Given the description of an element on the screen output the (x, y) to click on. 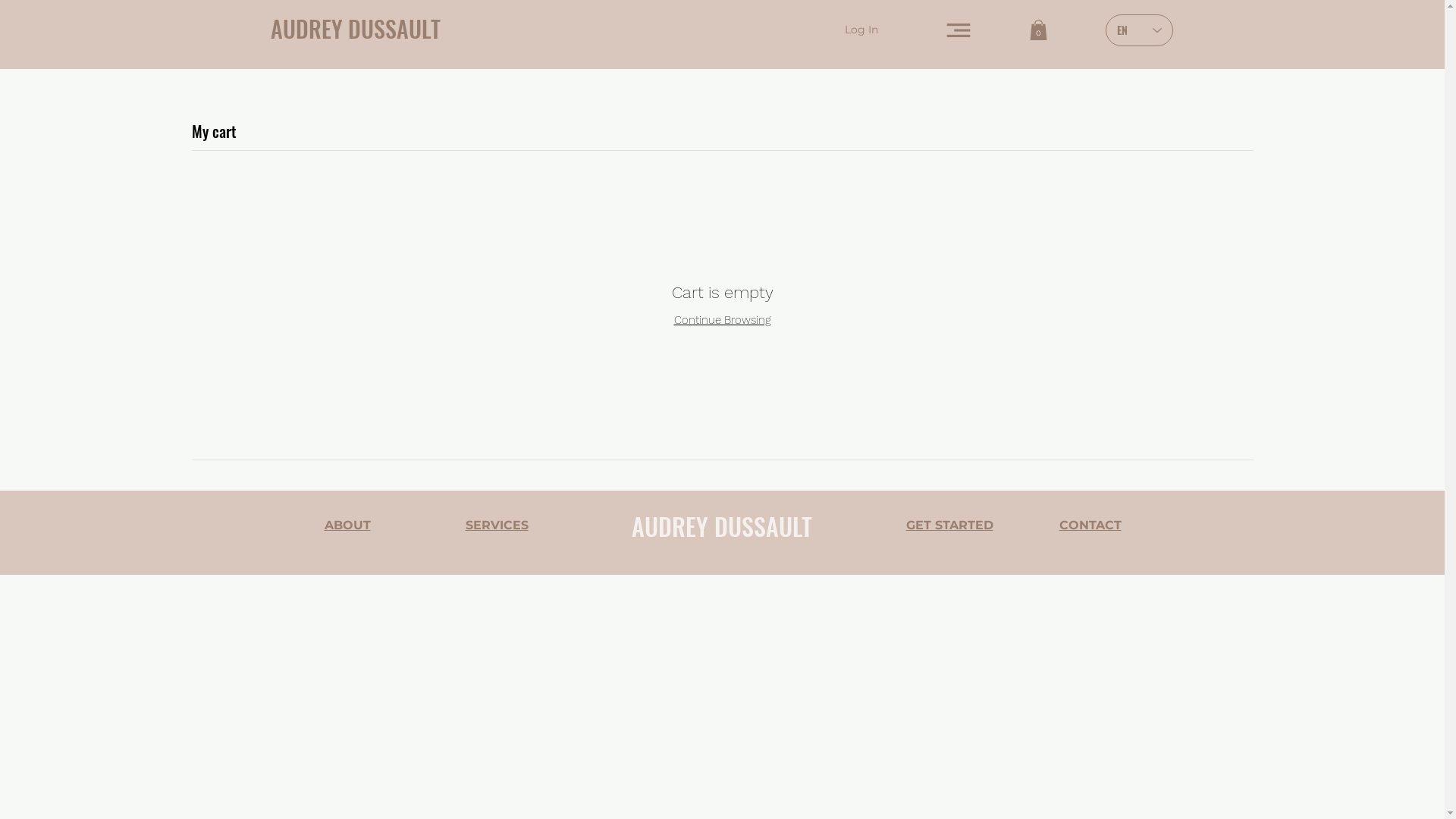
SERVICES Element type: text (496, 524)
0 Element type: text (1038, 29)
GET STARTED Element type: text (948, 524)
Log In Element type: text (861, 30)
Continue Browsing Element type: text (721, 319)
ABOUT Element type: text (347, 524)
CONTACT Element type: text (1089, 524)
